Given the description of an element on the screen output the (x, y) to click on. 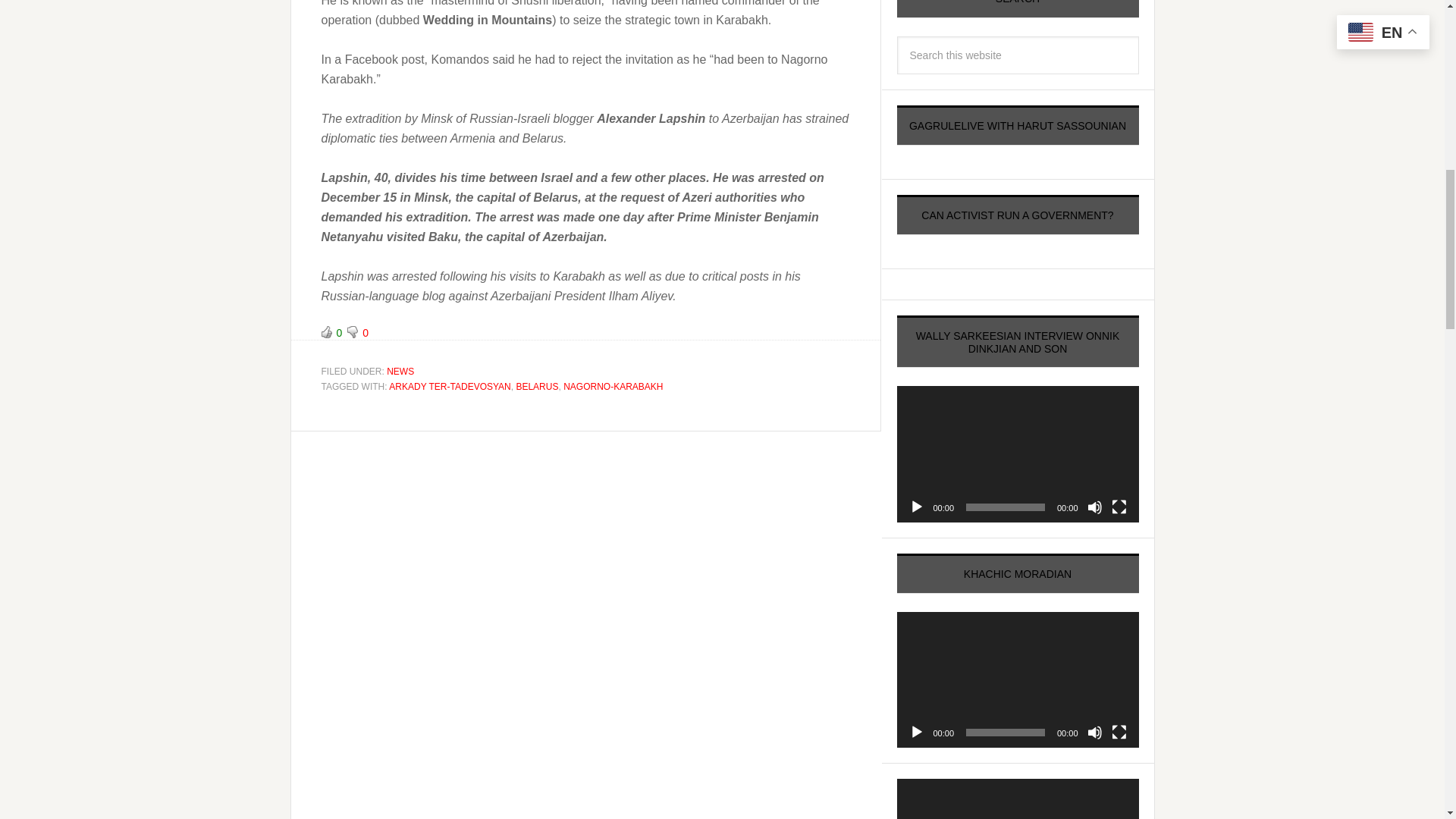
Fullscreen (1119, 507)
Play (915, 507)
ARKADY TER-TADEVOSYAN (449, 386)
NAGORNO-KARABAKH (612, 386)
Play (915, 732)
Mute (1094, 507)
BELARUS (536, 386)
NEWS (400, 371)
Fullscreen (1119, 732)
Mute (1094, 732)
